Given the description of an element on the screen output the (x, y) to click on. 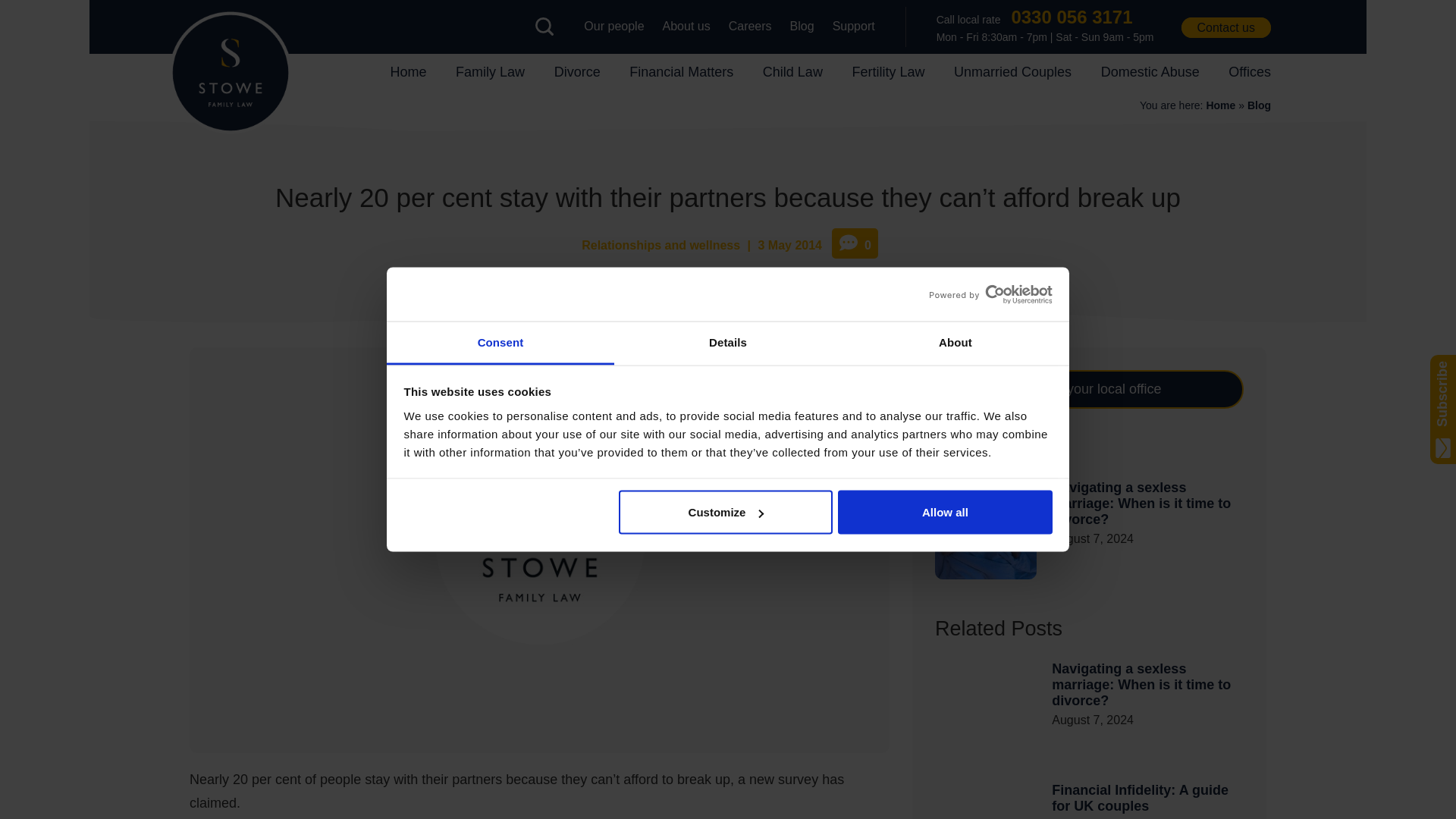
0 (854, 243)
Details (727, 342)
Consent (500, 342)
About (954, 342)
